Given the description of an element on the screen output the (x, y) to click on. 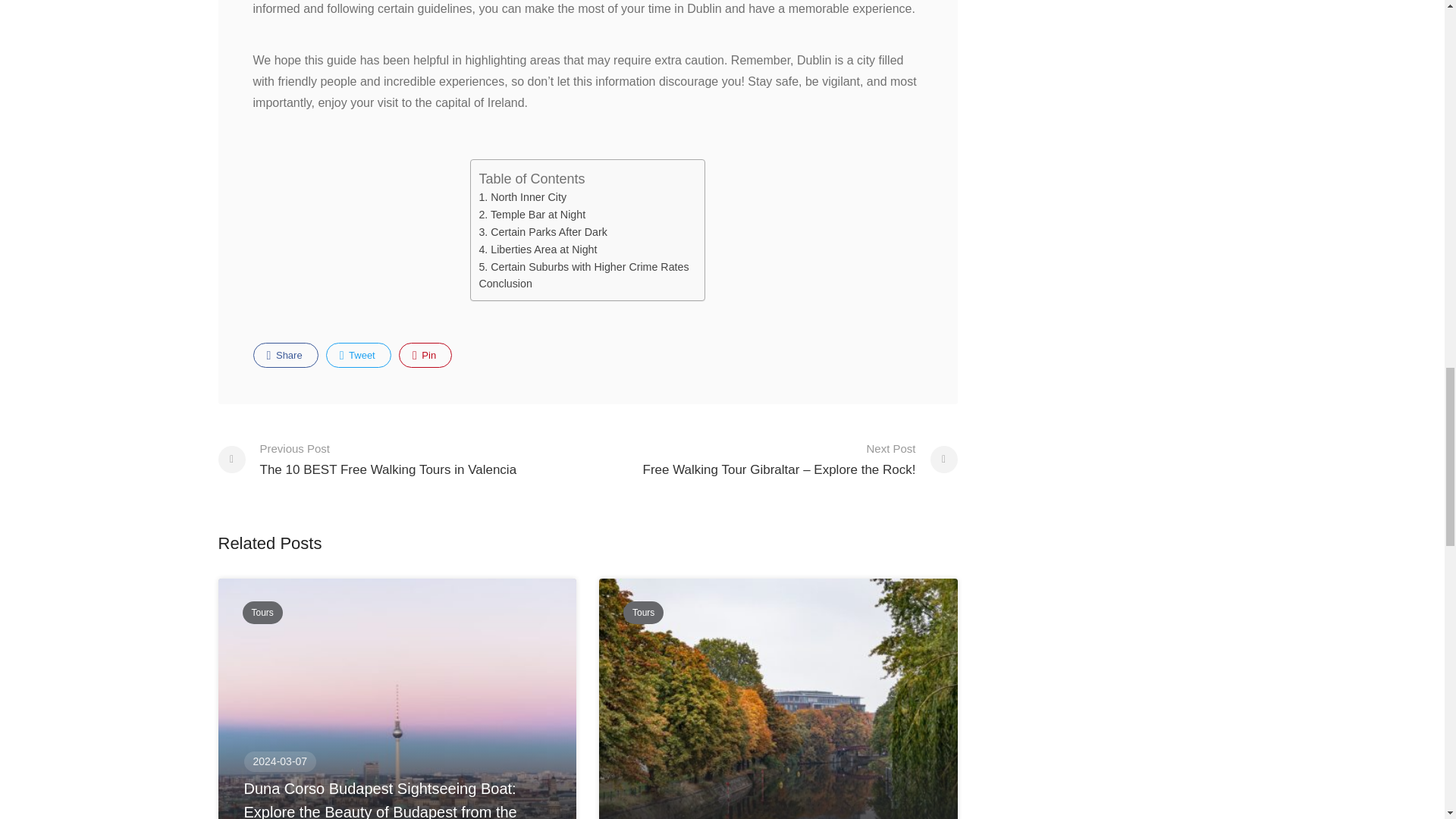
4. Liberties Area at Night (537, 249)
Conclusion (505, 283)
1. North Inner City (367, 458)
Conclusion (522, 197)
Pin (505, 283)
Twitter (424, 355)
1. North Inner City (358, 355)
4. Liberties Area at Night (522, 197)
3. Certain Parks After Dark (537, 249)
Share (543, 231)
3. Certain Parks After Dark (285, 355)
2. Temple Bar at Night (543, 231)
5. Certain Suburbs with Higher Crime Rates (532, 214)
